Given the description of an element on the screen output the (x, y) to click on. 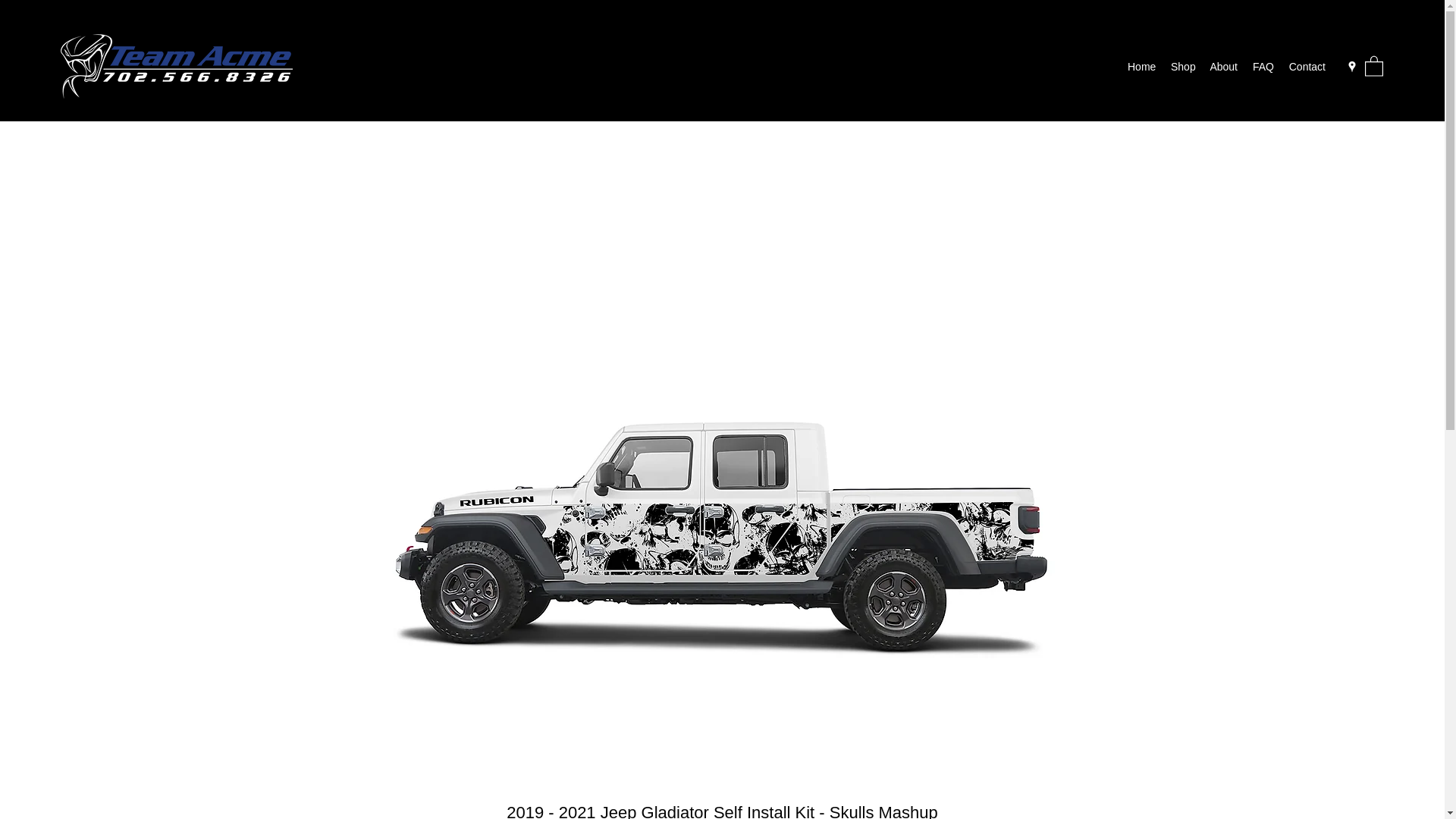
Home (1141, 66)
FAQ (1262, 66)
About (1222, 66)
Shop (1182, 66)
Contact (1307, 66)
